Given the description of an element on the screen output the (x, y) to click on. 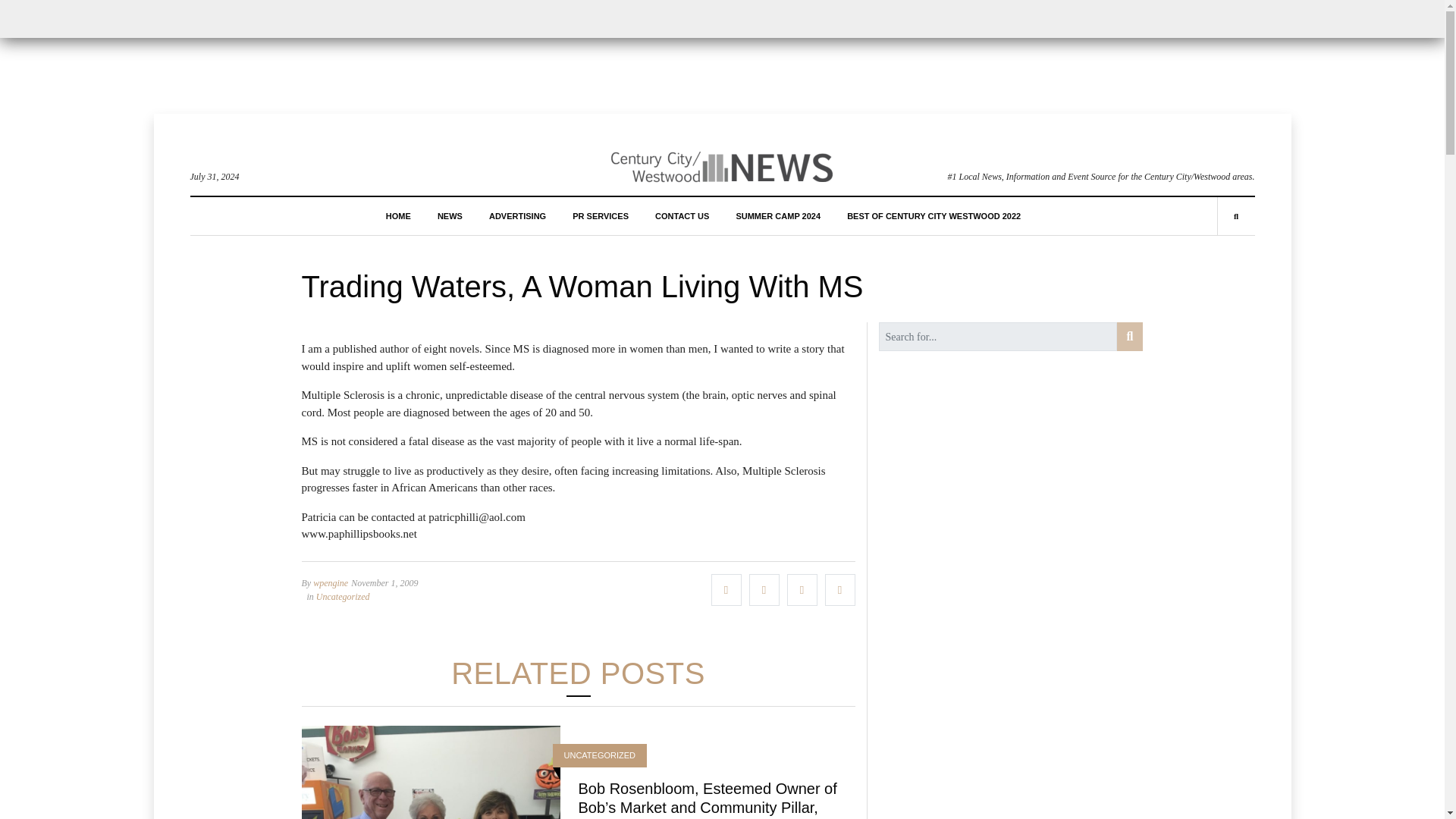
CONTACT US (682, 216)
Posts by wpengine (330, 583)
3rd party ad content (721, 52)
SUMMER CAMP 2024 (778, 216)
wpengine (330, 583)
BEST OF CENTURY CITY WESTWOOD 2022 (933, 216)
ADVERTISING (517, 216)
PR SERVICES (600, 216)
